Given the description of an element on the screen output the (x, y) to click on. 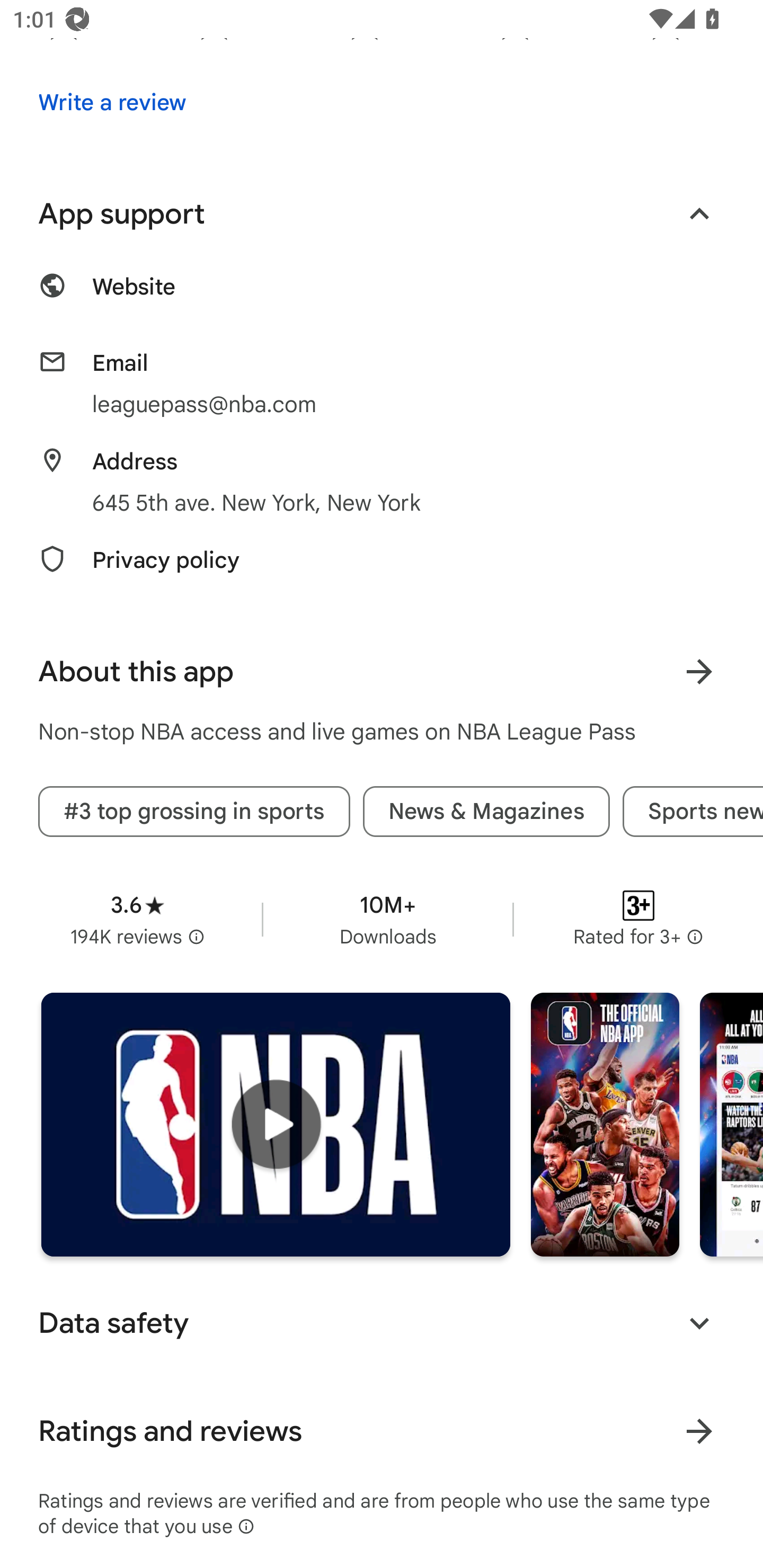
Write a review (112, 102)
App support Collapse (381, 213)
Collapse (699, 213)
Website (381, 296)
Email leaguepass@nba.com (381, 383)
Address 645 5th ave. New York, New York (381, 481)
Privacy policy (381, 569)
About this app Learn more About this app (381, 671)
Learn more About this app (699, 671)
#3 top grossing in sports tag (194, 811)
News & Magazines tag (486, 811)
Average rating 3.6 stars in 194 thousand reviews (137, 919)
Content rating Rated for 3+ (638, 919)
Play trailer for "NBA: Live Games & Scores" (275, 1123)
Screenshot "1" of "7" (605, 1123)
Data safety Expand (381, 1323)
Expand (699, 1323)
Ratings and reviews View all ratings and reviews (381, 1430)
View all ratings and reviews (699, 1431)
